Given the description of an element on the screen output the (x, y) to click on. 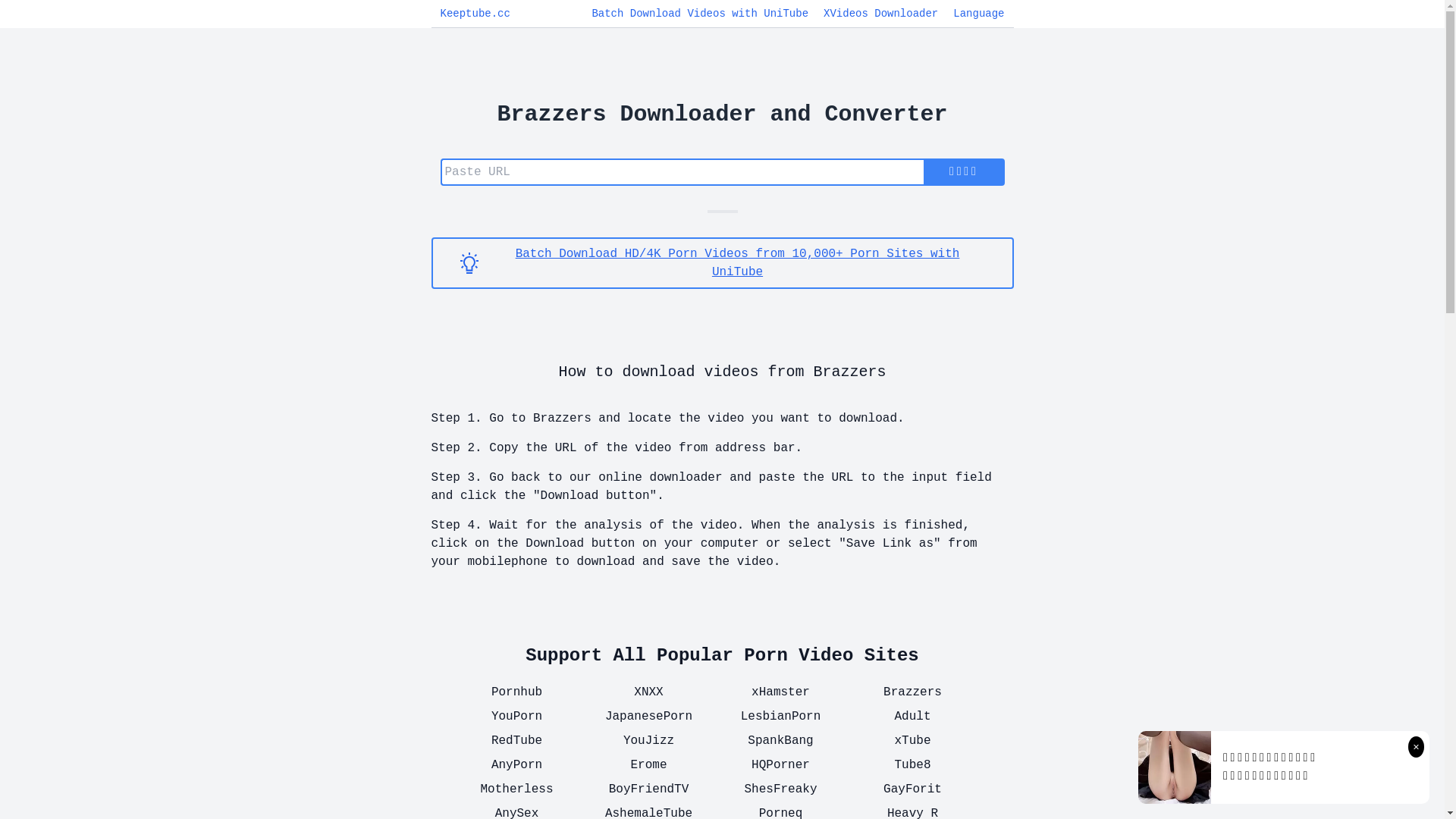
Brazzers Element type: text (911, 692)
RedTube Element type: text (516, 740)
SpankBang Element type: text (779, 740)
Motherless Element type: text (516, 789)
YouJizz Element type: text (648, 740)
LesbianPorn Element type: text (779, 716)
AnyPorn Element type: text (516, 765)
Tube8 Element type: text (911, 765)
xTube Element type: text (911, 740)
XNXX Element type: text (648, 692)
Batch Download Videos with UniTube Element type: text (699, 13)
HQPorner Element type: text (779, 765)
Erome Element type: text (648, 765)
xHamster Element type: text (779, 692)
Pornhub Element type: text (516, 692)
XVideos Downloader Element type: text (880, 13)
JapanesePorn Element type: text (648, 716)
GayForit Element type: text (911, 789)
BoyFriendTV Element type: text (648, 789)
ShesFreaky Element type: text (779, 789)
YouPorn Element type: text (516, 716)
Keeptube.cc Element type: text (474, 13)
Adult Element type: text (911, 716)
